Given the description of an element on the screen output the (x, y) to click on. 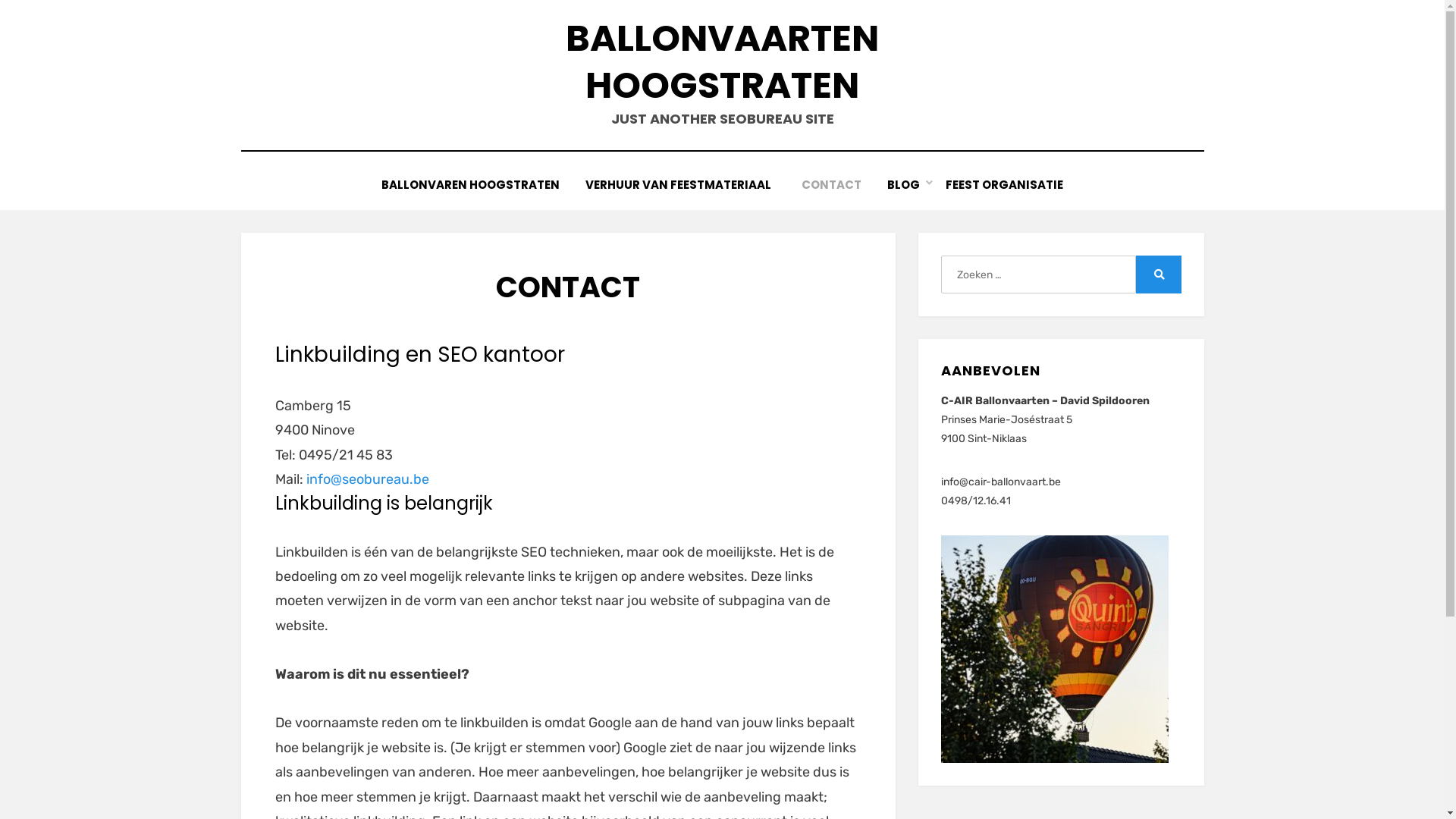
CONTACT Element type: text (831, 184)
0498/12.16.41 Element type: text (975, 500)
info@cair-ballonvaart.be Element type: text (1000, 481)
VERHUUR VAN FEESTMATERIAAL   Element type: text (680, 184)
info@seobureau.be Element type: text (367, 478)
FEEST ORGANISATIE Element type: text (1004, 184)
BLOG Element type: text (903, 184)
Zoeken Element type: text (1158, 274)
BALLONVAREN HOOGSTRATEN Element type: text (470, 184)
BALLONVAARTEN HOOGSTRATEN Element type: text (721, 61)
Zoeken naar: Element type: hover (1038, 274)
